Given the description of an element on the screen output the (x, y) to click on. 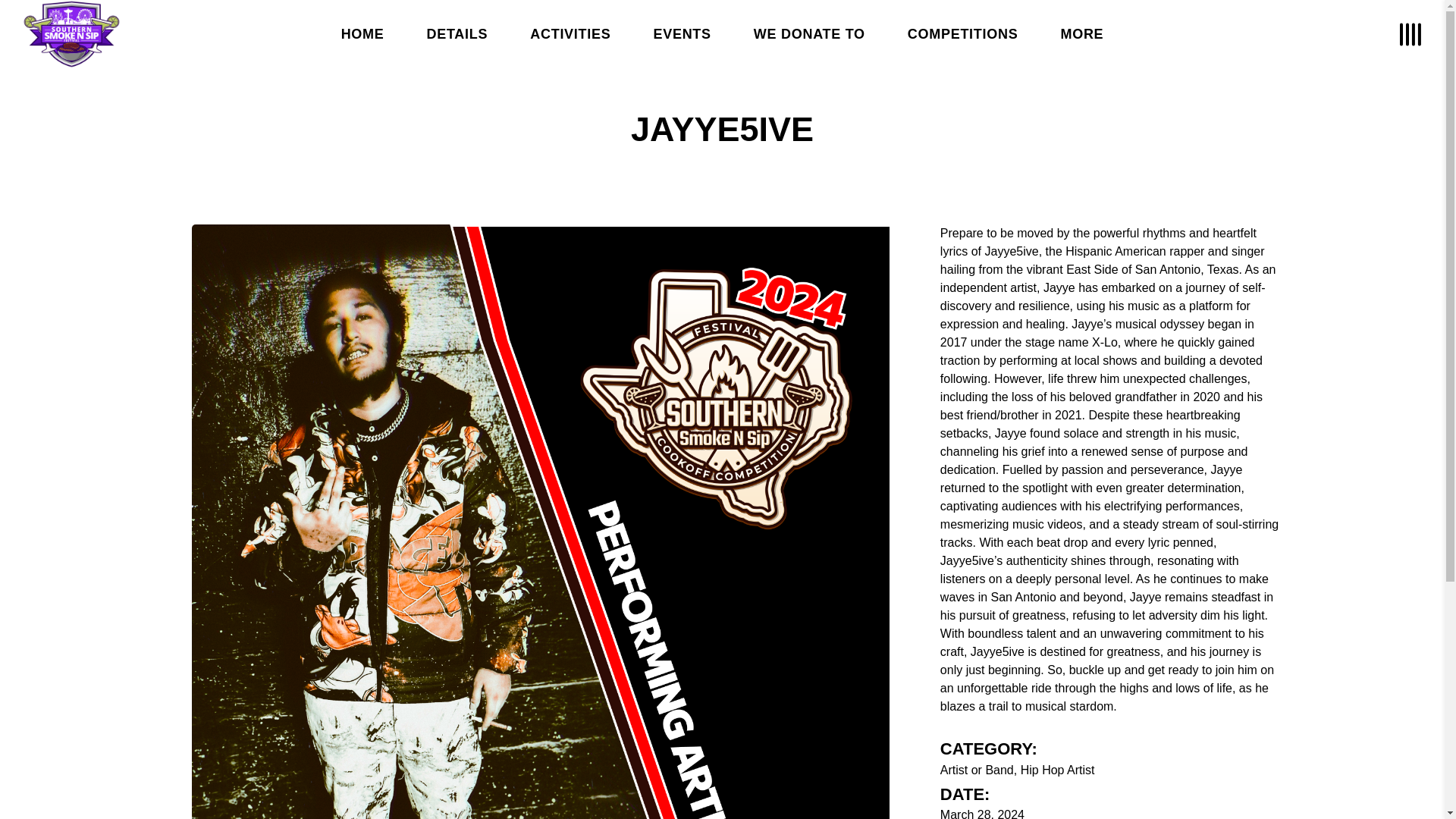
ACTIVITIES (569, 34)
DETAILS (457, 34)
EVENTS (681, 34)
MORE (1081, 34)
HOME (363, 34)
WE DONATE TO (809, 34)
COMPETITIONS (962, 34)
